Given the description of an element on the screen output the (x, y) to click on. 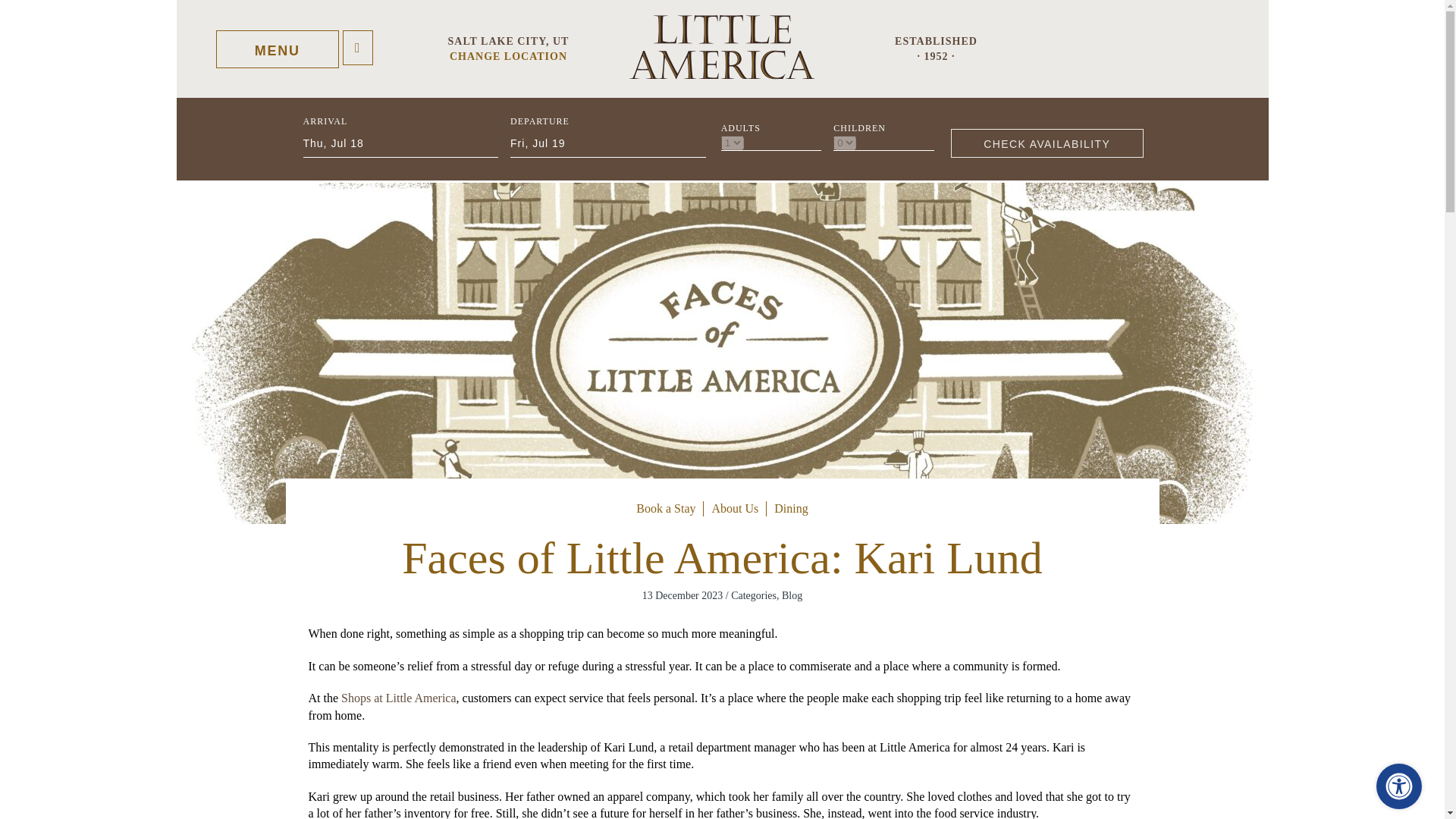
Check Availability (1046, 143)
Shops at Little America (398, 697)
OPEN SEARCH (357, 47)
Check Availability (1046, 143)
Dining (791, 508)
CHANGE LOCATION (508, 55)
About Us (734, 508)
View all posts in Blog (791, 595)
MENU (277, 48)
Blog (791, 595)
Book a Stay (665, 508)
